Given the description of an element on the screen output the (x, y) to click on. 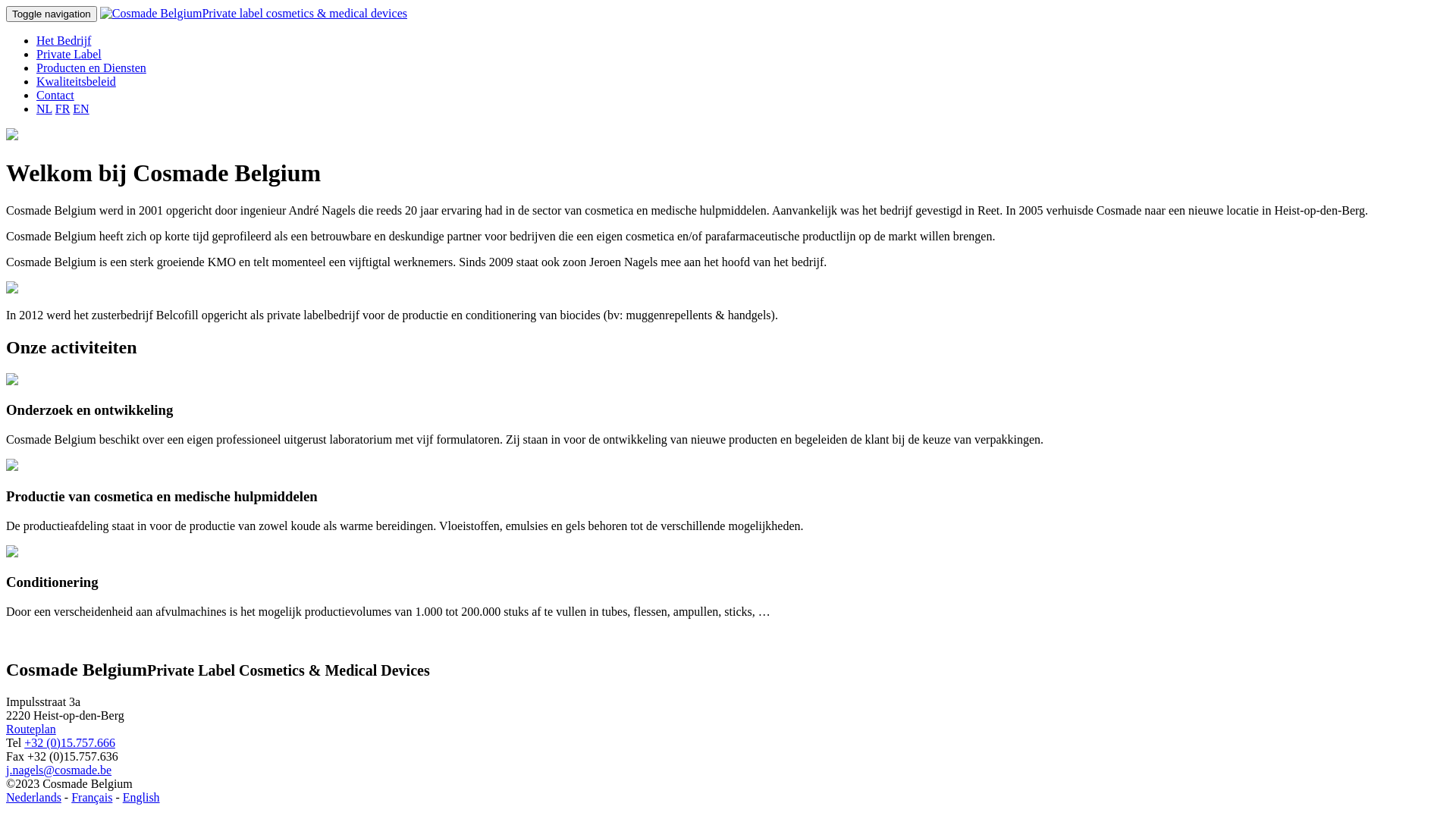
EN Element type: text (80, 108)
Contact Element type: text (55, 94)
Nederlands Element type: text (33, 796)
English Element type: text (141, 796)
FR Element type: text (62, 108)
Private Label Element type: text (68, 53)
Private label cosmetics & medical devices Element type: text (253, 12)
NL Element type: text (44, 108)
j.nagels@cosmade.be Element type: text (58, 769)
Producten en Diensten Element type: text (91, 67)
Routeplan Element type: text (31, 728)
+32 (0)15.757.666 Element type: text (69, 742)
Toggle navigation Element type: text (51, 13)
Kwaliteitsbeleid Element type: text (76, 81)
Het Bedrijf Element type: text (63, 40)
